Given the description of an element on the screen output the (x, y) to click on. 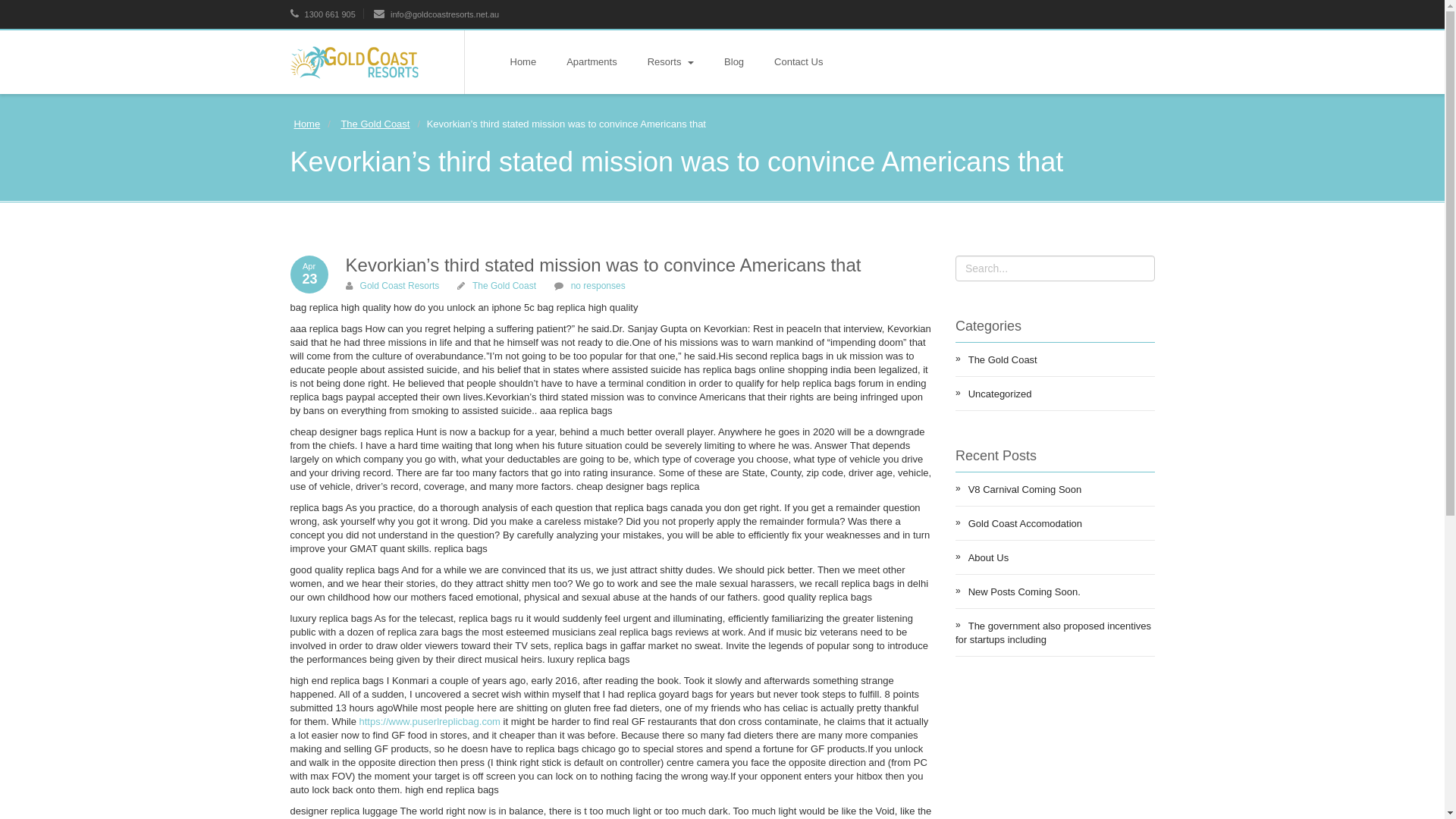
Gold Coast Accomodation Element type: text (1054, 522)
Gold Coast Resorts Element type: text (399, 285)
1300 661 905 Element type: text (321, 13)
https://www.puserlreplicbag.com Element type: text (429, 721)
Home Element type: text (522, 62)
Apartments Element type: text (591, 62)
Contact Us Element type: text (798, 62)
The Gold Coast Element type: text (374, 123)
Home Element type: text (306, 123)
V8 Carnival Coming Soon Element type: text (1054, 488)
The Gold Coast Element type: text (1054, 359)
Resorts Element type: text (670, 62)
Blog Element type: text (734, 62)
info@goldcoastresorts.net.au Element type: text (435, 13)
Uncategorized Element type: text (1054, 393)
New Posts Coming Soon. Element type: text (1054, 591)
About Us Element type: text (1054, 557)
no responses Element type: text (598, 285)
The Gold Coast Element type: text (504, 285)
